Given the description of an element on the screen output the (x, y) to click on. 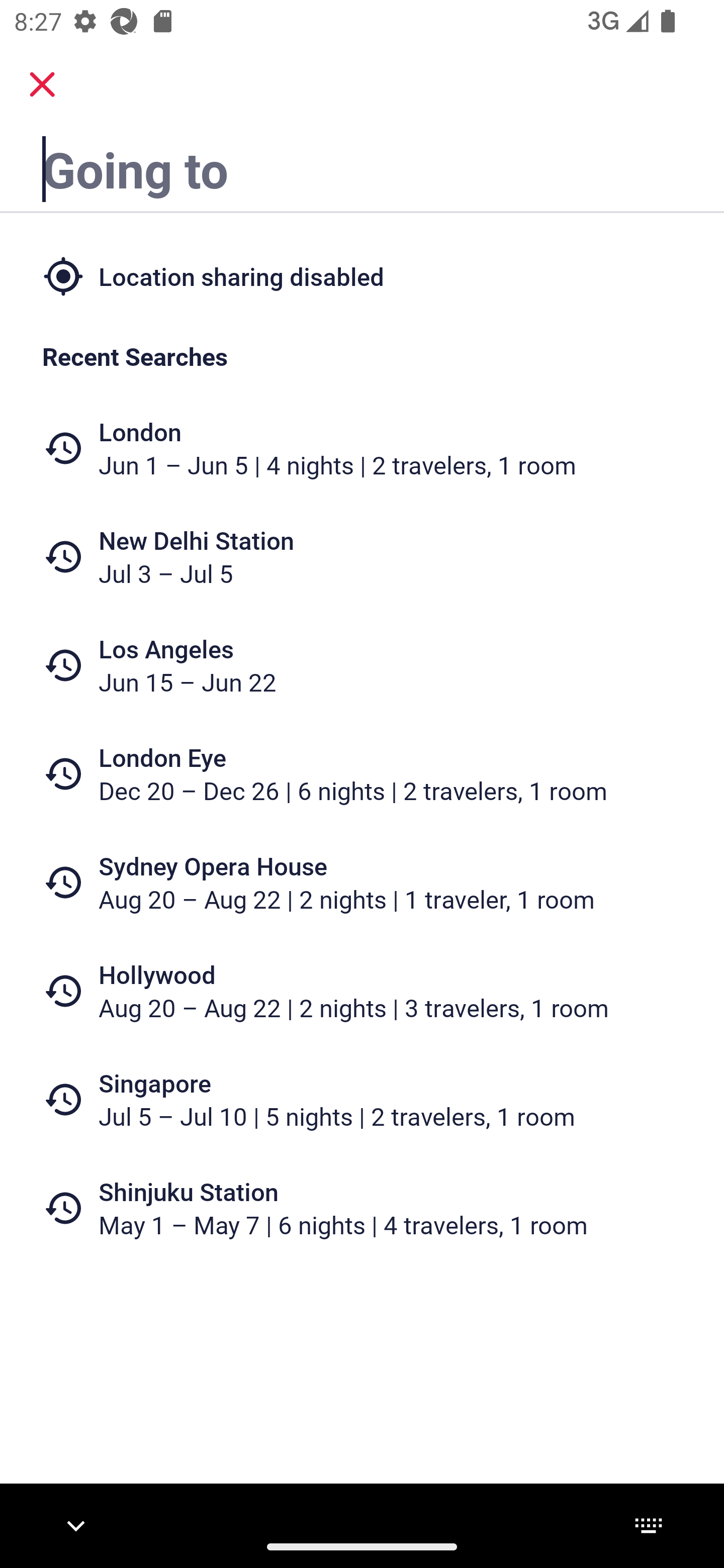
close. (42, 84)
Location sharing disabled (362, 275)
New Delhi Station Jul 3 – Jul 5 (362, 557)
Los Angeles Jun 15 – Jun 22 (362, 665)
